Given the description of an element on the screen output the (x, y) to click on. 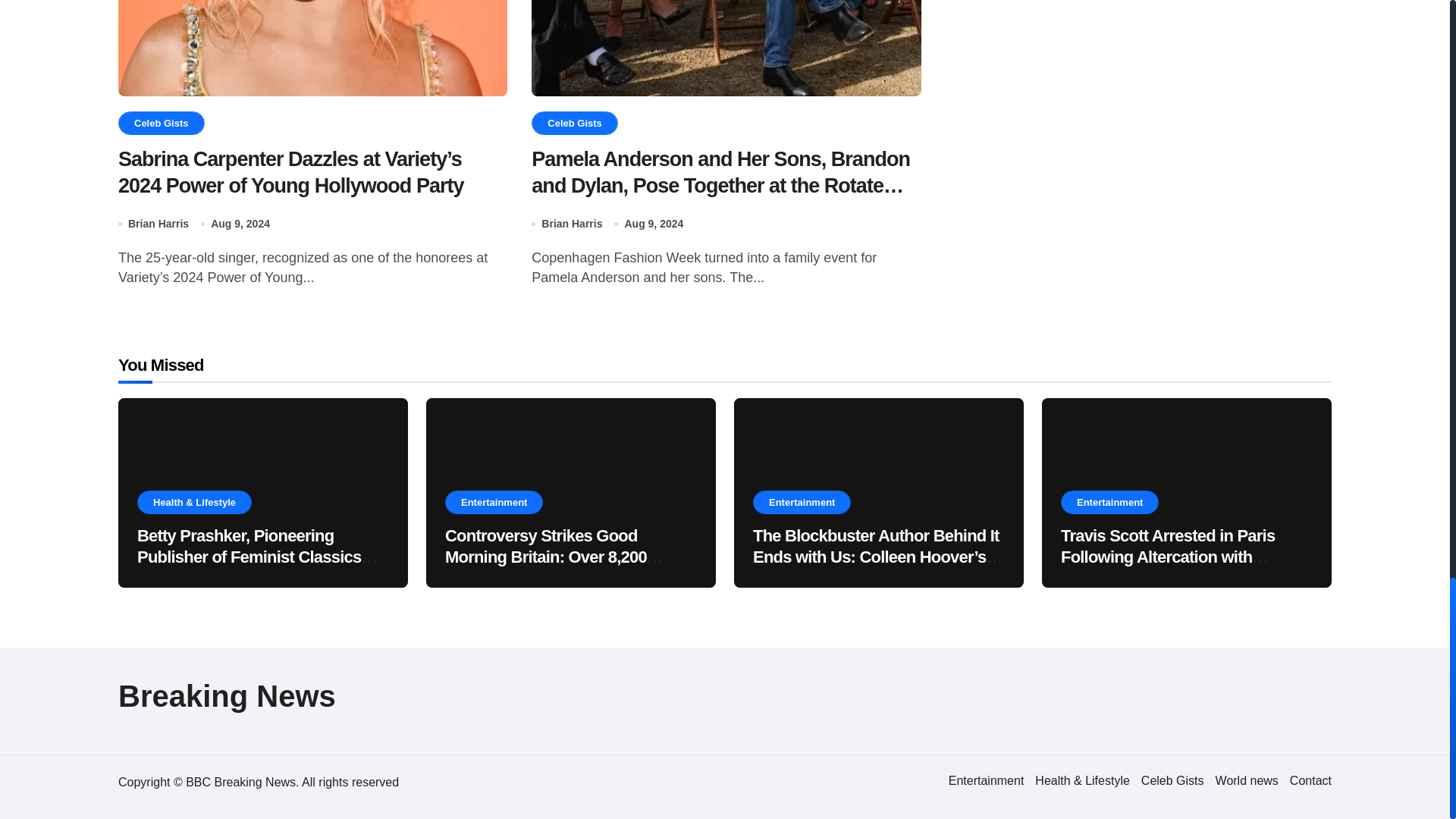
Celeb Gists (1172, 780)
Entertainment (987, 780)
World news (1246, 780)
Contact (1311, 780)
